Given the description of an element on the screen output the (x, y) to click on. 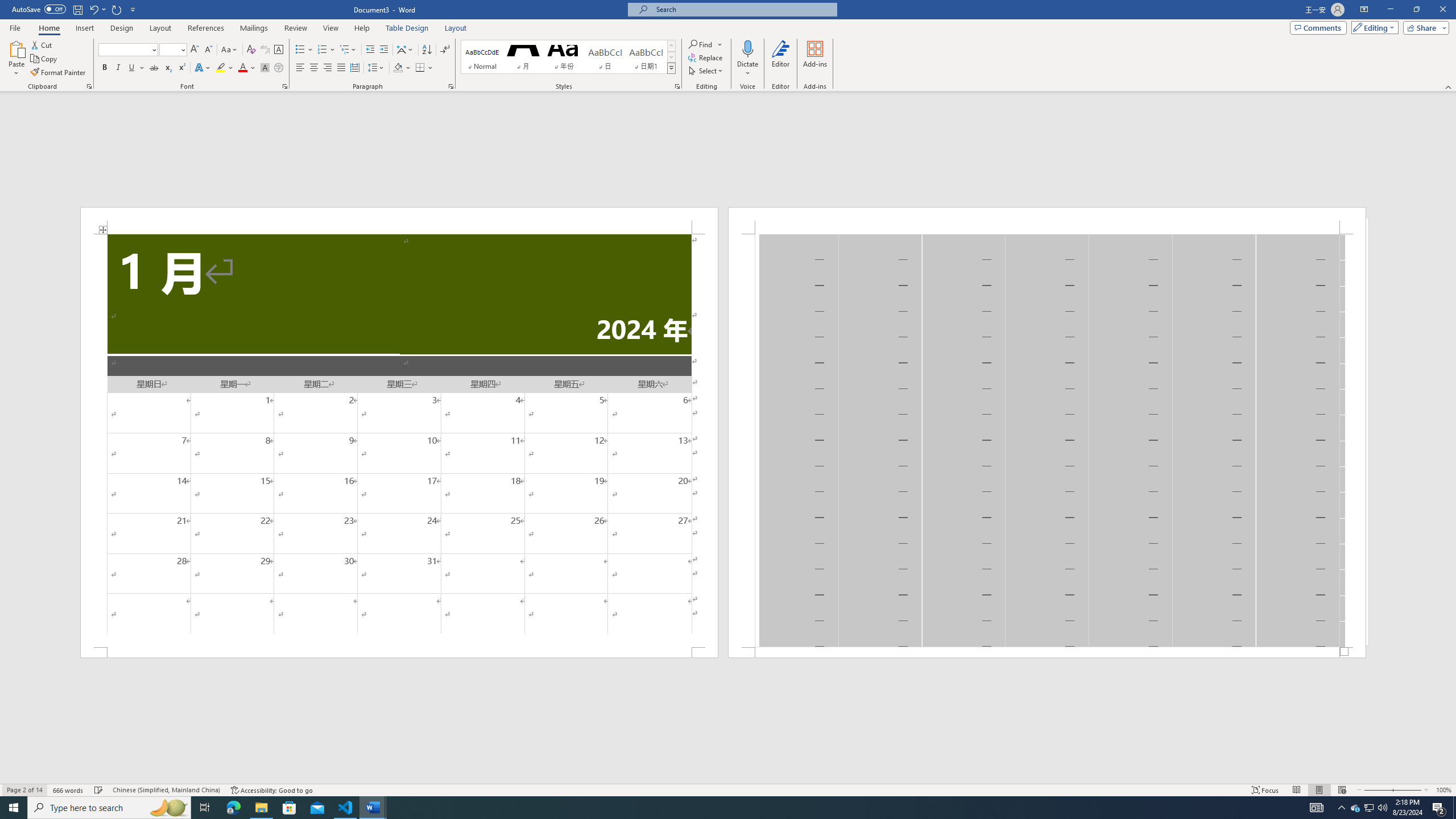
Page Number Page 2 of 14 (24, 790)
Bold (104, 67)
Character Border (278, 49)
Styles... (676, 85)
Asian Layout (405, 49)
Open (182, 49)
Distributed (354, 67)
Character Shading (264, 67)
Subscript (167, 67)
